Given the description of an element on the screen output the (x, y) to click on. 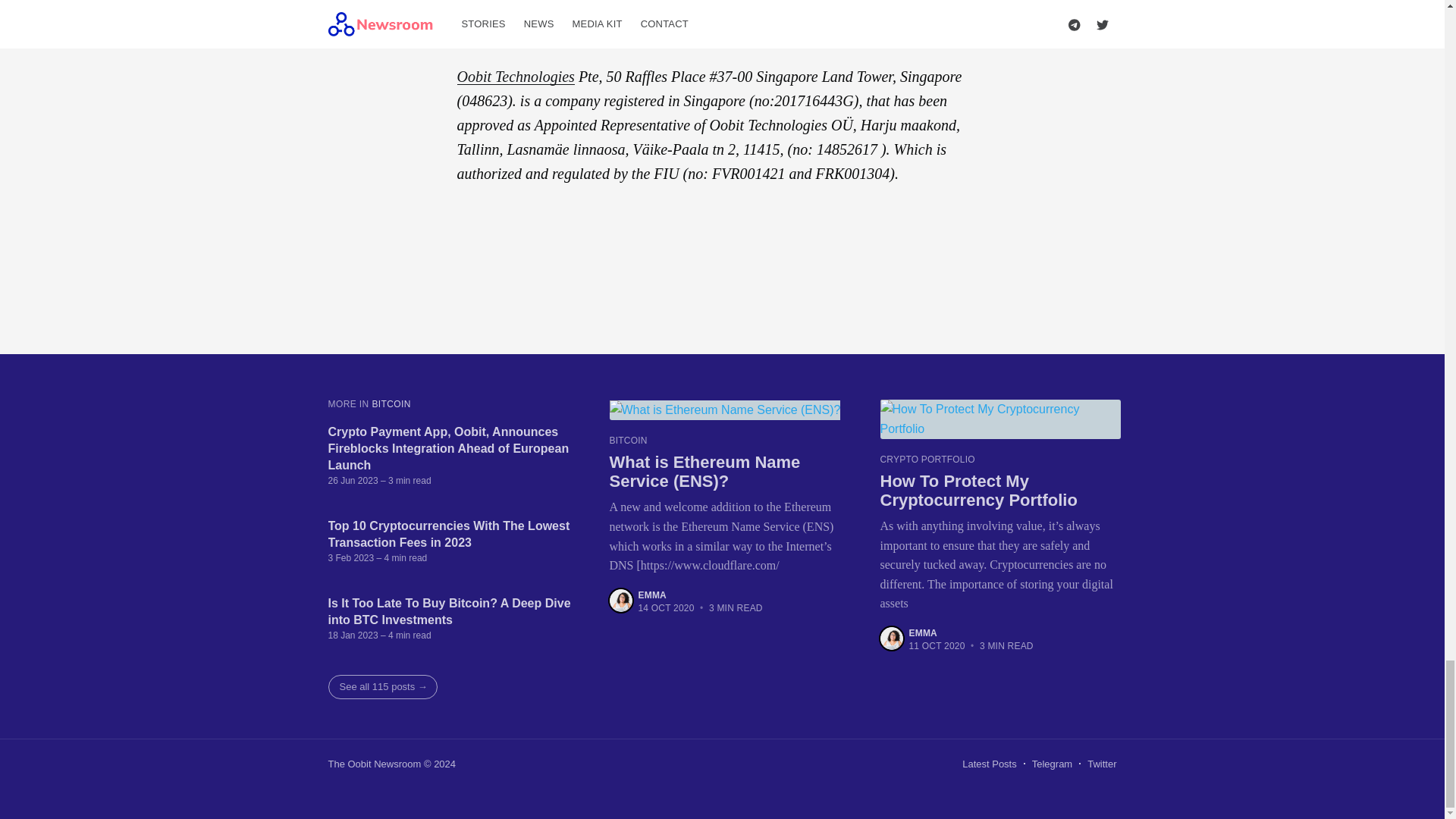
EMMA (652, 594)
The Oobit Newsroom (373, 763)
EMMA (922, 633)
Twitter (1101, 763)
Telegram (1051, 763)
BITCOIN (390, 403)
Oobit Technologies (515, 76)
